Given the description of an element on the screen output the (x, y) to click on. 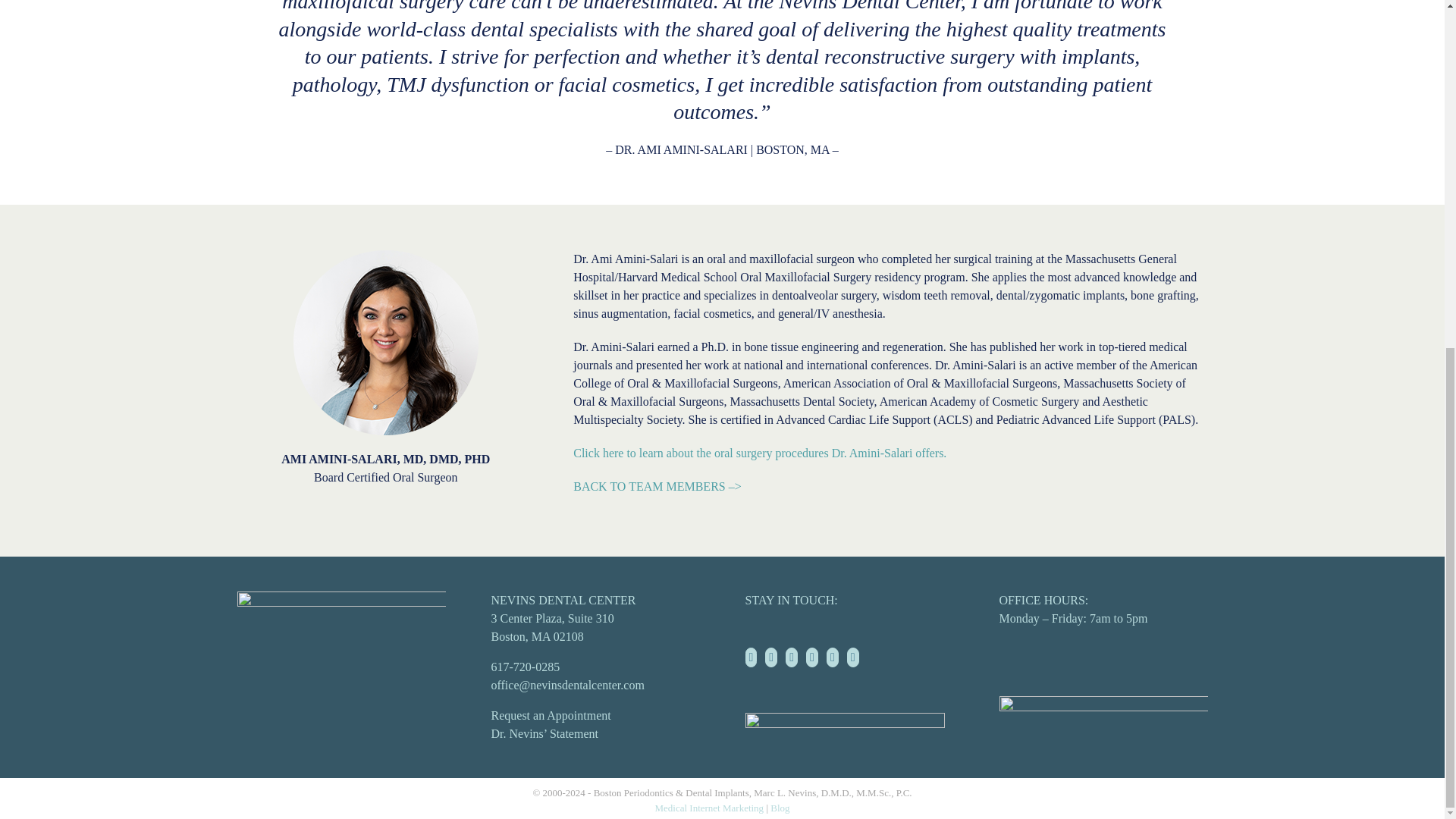
Medical Internet Marketing (707, 808)
Request an Appointment (551, 715)
Blog (779, 808)
